Given the description of an element on the screen output the (x, y) to click on. 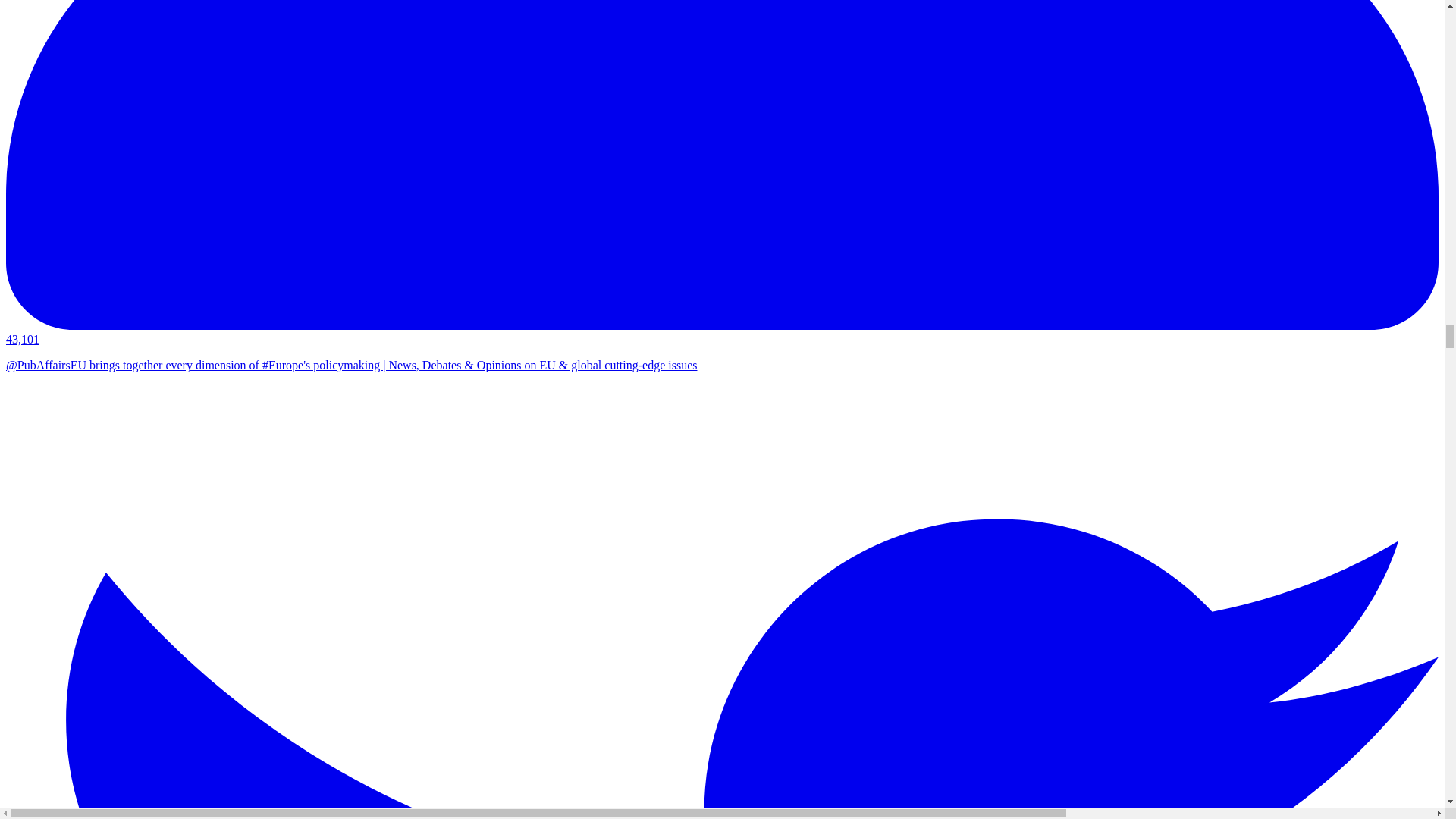
43,101 Followers (721, 332)
